Given the description of an element on the screen output the (x, y) to click on. 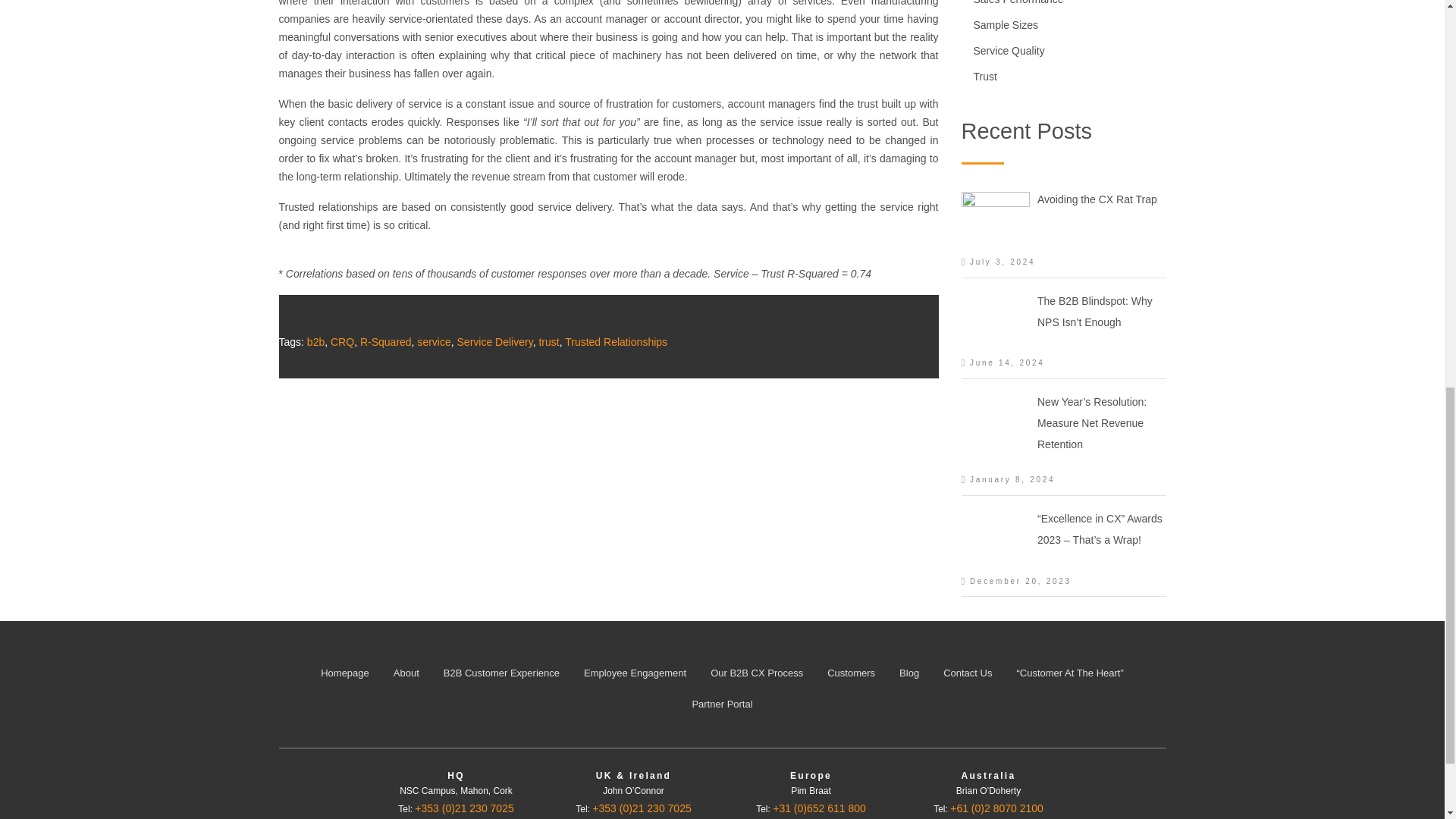
CRQ (341, 341)
b2b (315, 341)
R-Squared (385, 341)
Trusted Relationships (615, 341)
service (432, 341)
Service Delivery (494, 341)
partner-login (721, 704)
trust (548, 341)
